Given the description of an element on the screen output the (x, y) to click on. 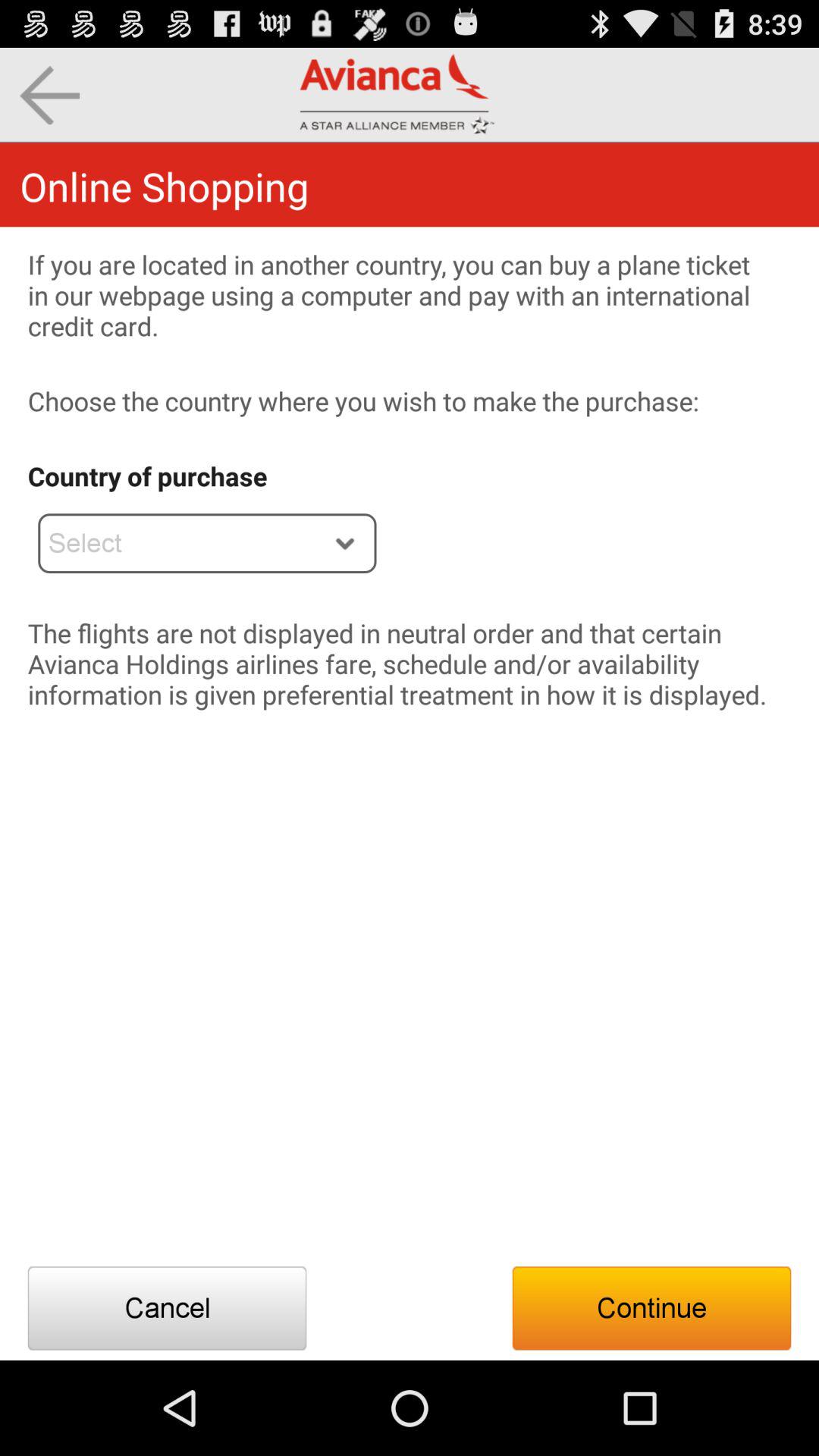
turn off the icon below the flights are (651, 1308)
